Given the description of an element on the screen output the (x, y) to click on. 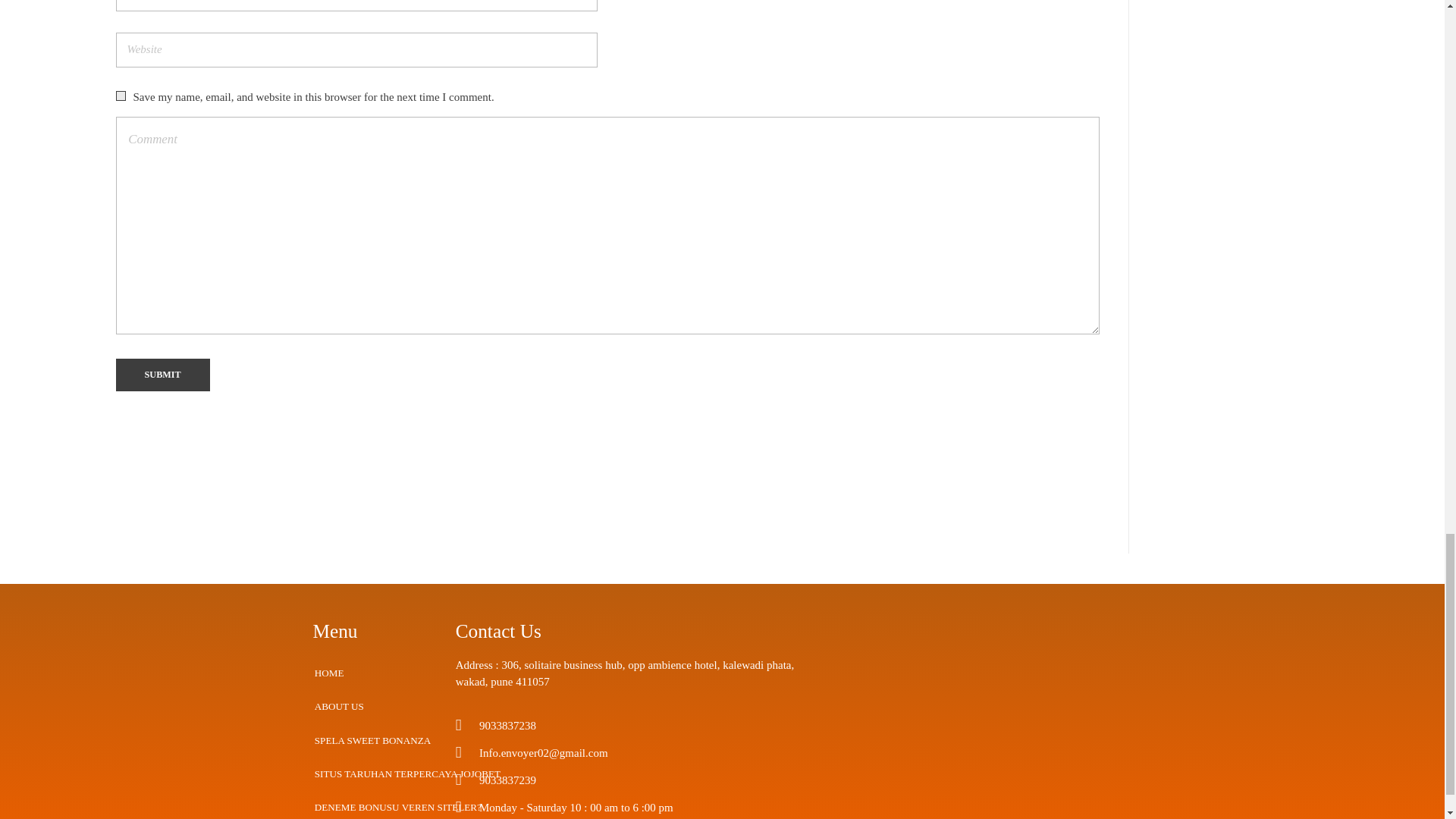
Submit (162, 374)
yes (120, 95)
Submit (162, 374)
